Given the description of an element on the screen output the (x, y) to click on. 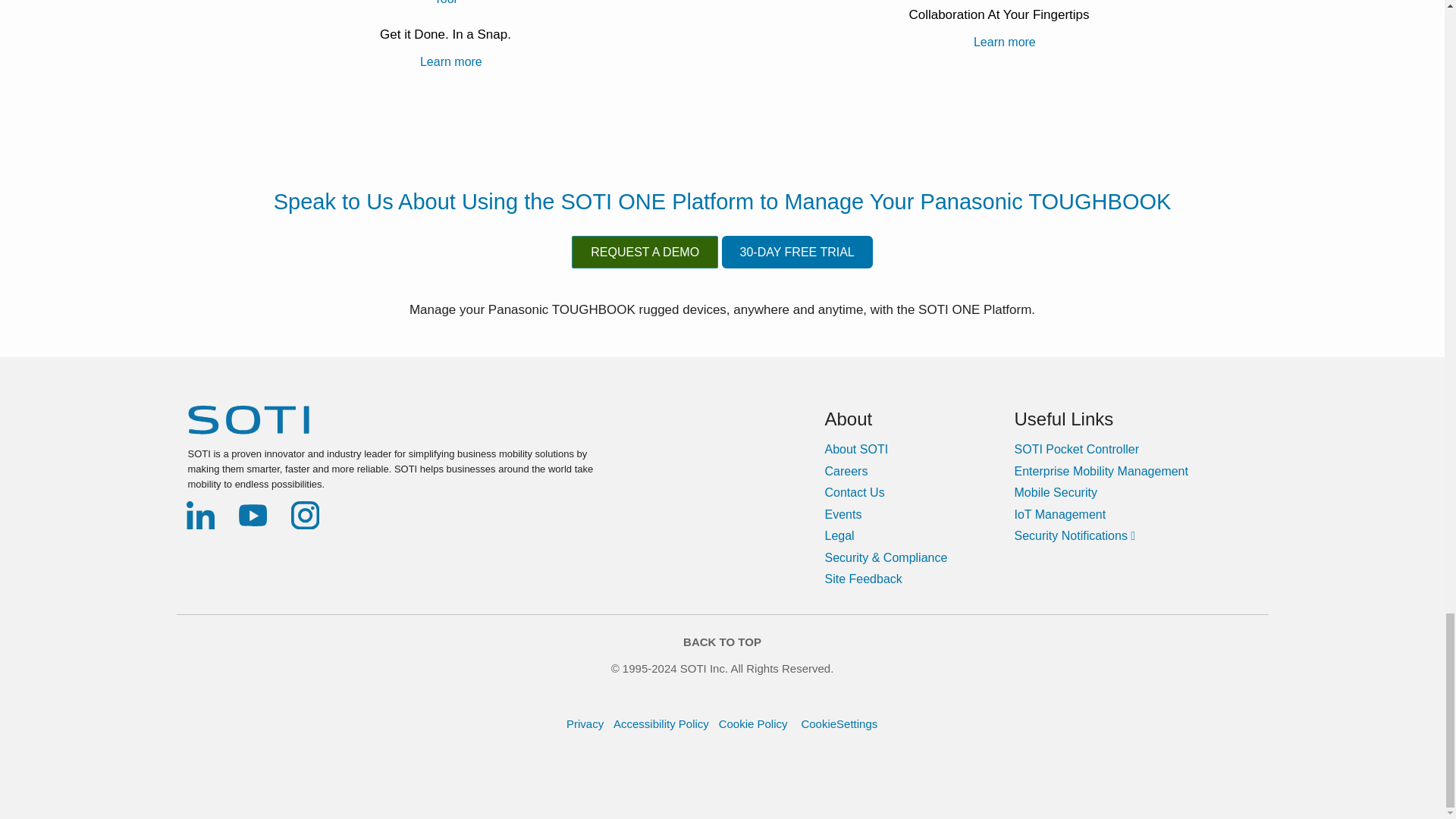
SOTI Inc. Logo (247, 419)
YouTube Logo (252, 515)
Instagram Logo (304, 515)
LinkedIn Logo (200, 515)
